Given the description of an element on the screen output the (x, y) to click on. 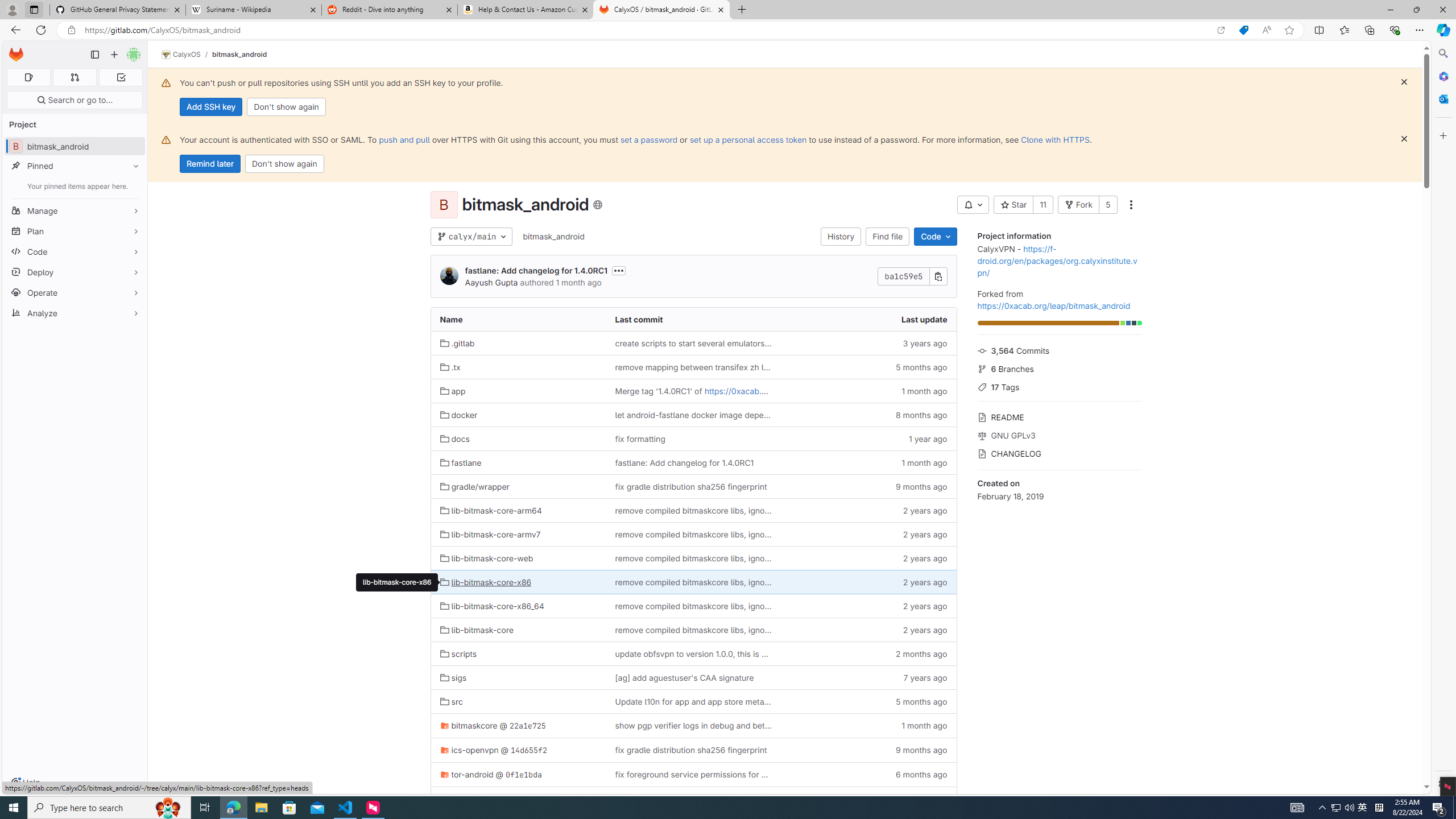
bitmask_android (553, 235)
Name (517, 319)
lib-bitmask-core-x86 (485, 581)
Reddit - Dive into anything (390, 9)
Address and search bar (647, 29)
0f1e1bda (523, 774)
fix formatting (639, 438)
Class: s16 icon gl-mr-3 gl-text-gray-500 (981, 453)
bitmaskcore @ 22a1e725 (517, 725)
Manage (74, 210)
tor-android (466, 774)
https://f-droid.org/en/packages/org.calyxinstitute.vpn/ (1056, 260)
Last update (868, 319)
